Given the description of an element on the screen output the (x, y) to click on. 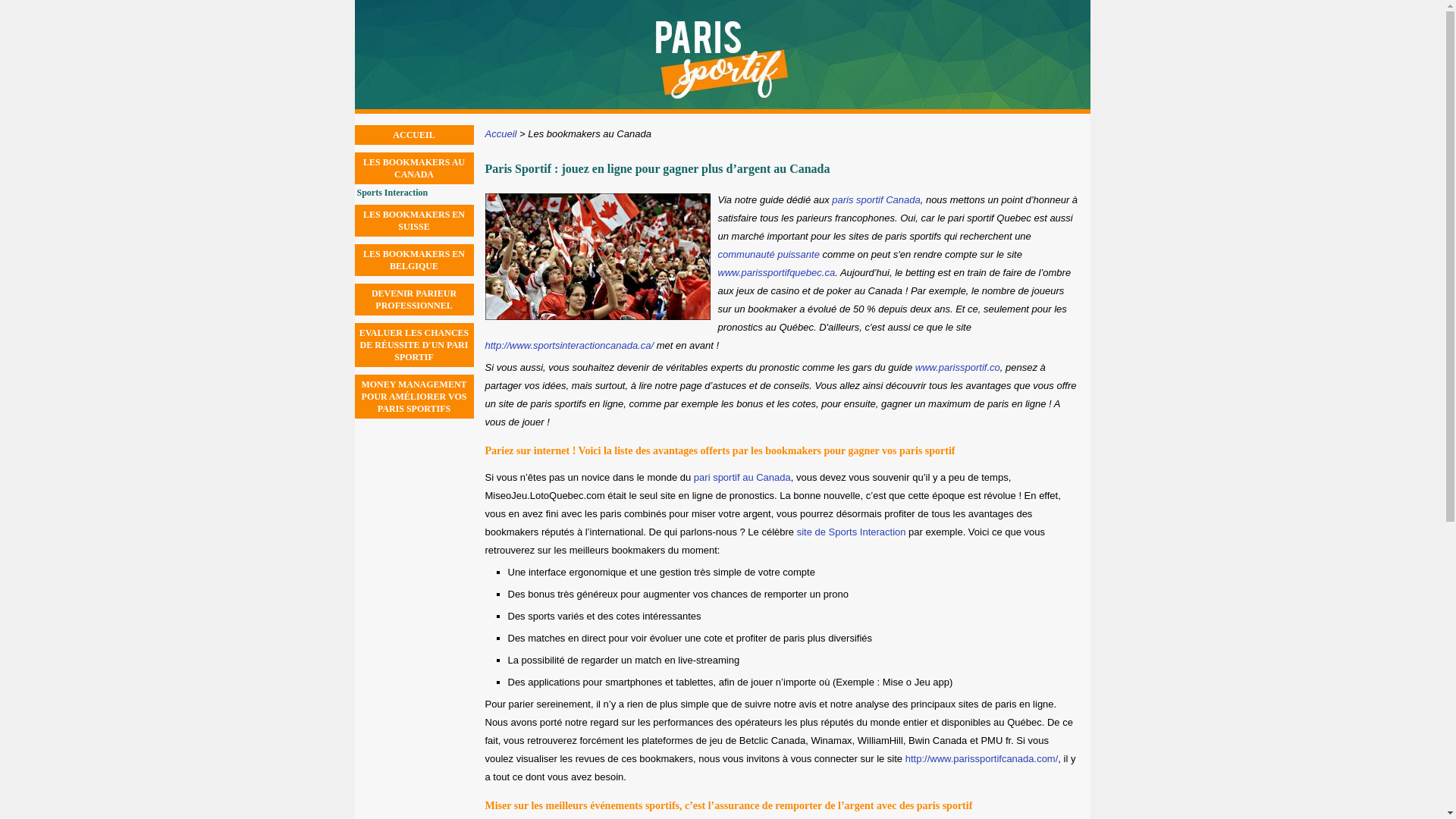
DEVENIR PARIEUR PROFESSIONNEL Element type: text (413, 299)
http://www.sportsinteractioncanada.ca/ Element type: text (569, 345)
http://www.parissportifcanada.com/ Element type: text (981, 758)
ACCUEIL Element type: text (413, 134)
site de Sports Interaction Element type: text (851, 531)
www.parissportifquebec.ca Element type: text (775, 272)
LES BOOKMAKERS AU CANADA Element type: text (413, 168)
LES BOOKMAKERS EN SUISSE Element type: text (413, 220)
pari sportif au Canada Element type: text (741, 477)
Sports Interaction Element type: text (414, 192)
paris sportif Canada Element type: text (875, 199)
Accueil Element type: text (501, 133)
Les bookmakers au Canada Element type: text (589, 133)
LES BOOKMAKERS EN BELGIQUE Element type: text (413, 260)
www.parissportif.co Element type: text (957, 367)
